Given the description of an element on the screen output the (x, y) to click on. 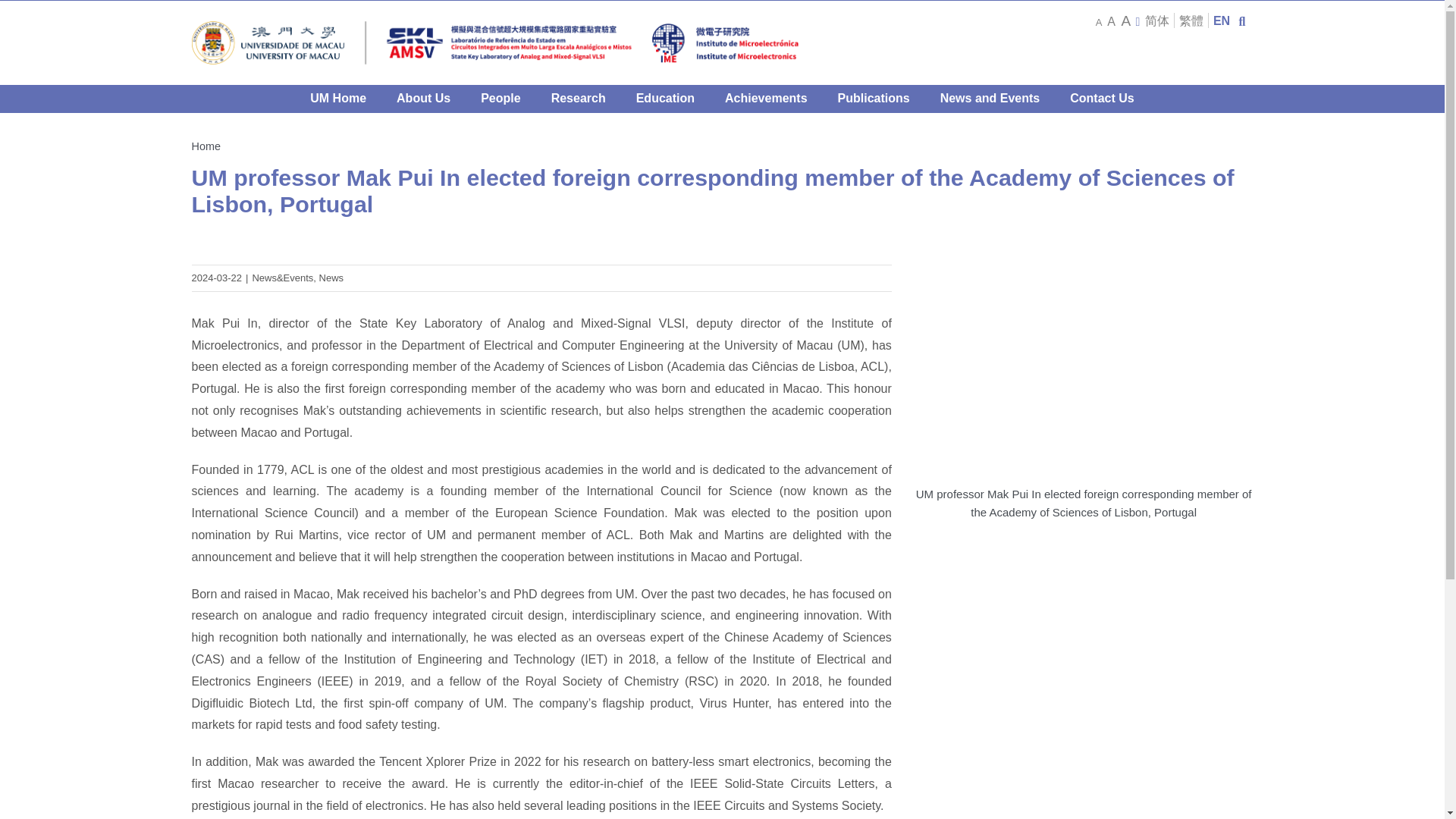
UM Home (338, 98)
About Us (423, 98)
Research (578, 98)
EN (1221, 20)
People (500, 98)
